Given the description of an element on the screen output the (x, y) to click on. 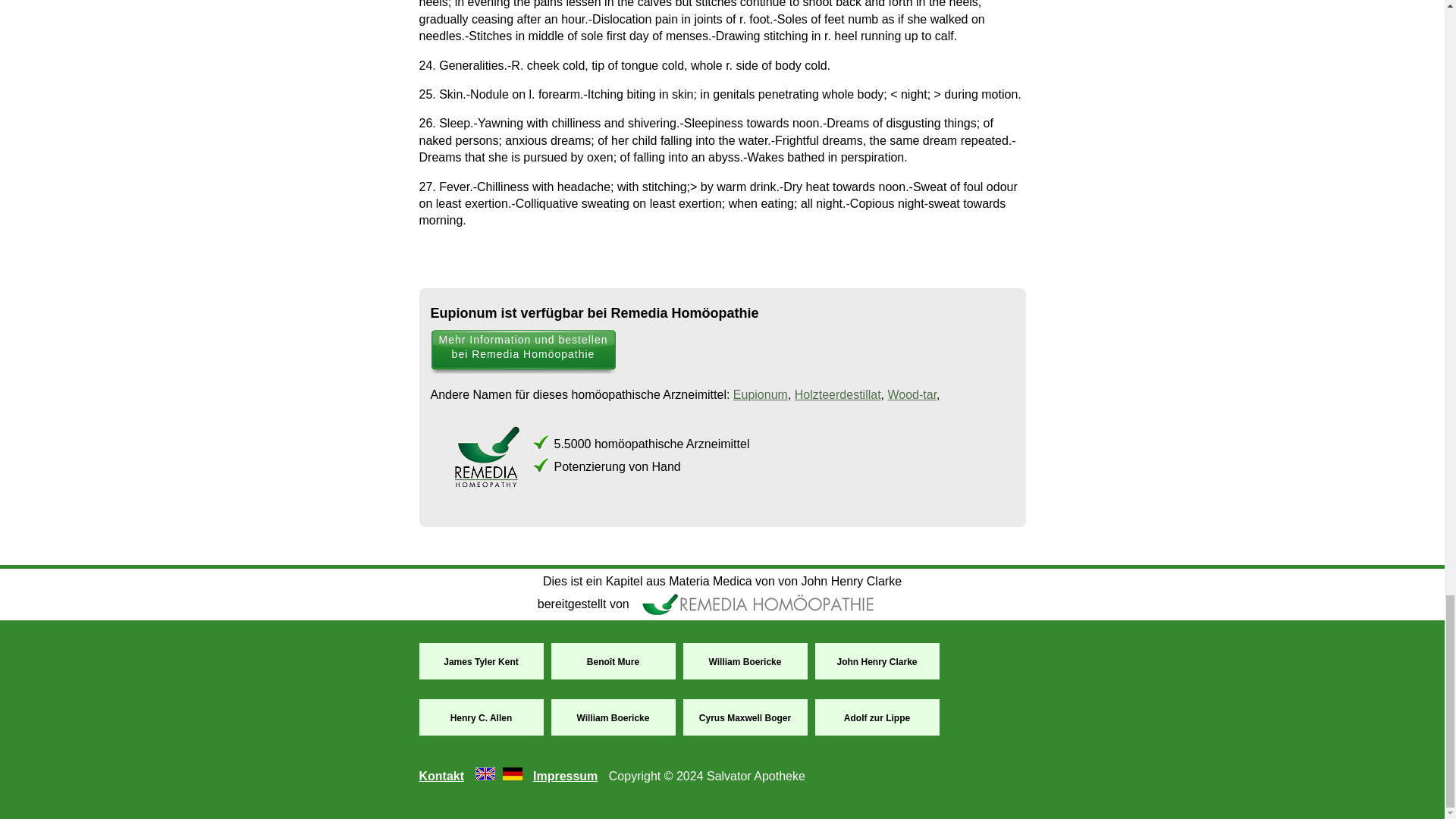
Eupionum (760, 394)
James Tyler Kent (481, 661)
homeopathy-Contact (441, 775)
Holzteerdestillat (837, 394)
homeopathy-Imprint (564, 775)
Wood-tar (911, 394)
